Given the description of an element on the screen output the (x, y) to click on. 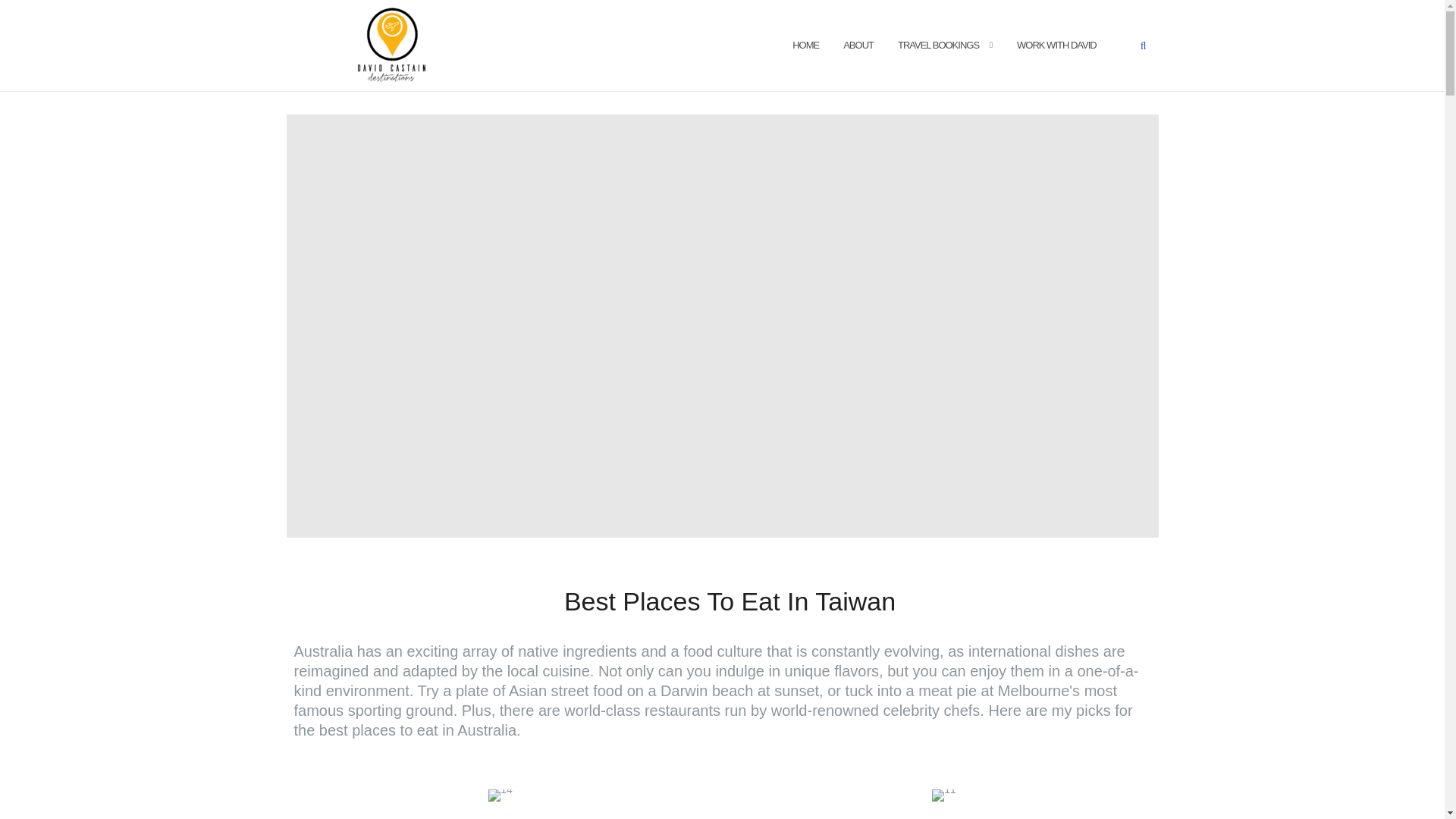
WORK WITH DAVID (1056, 45)
Work With David (1056, 45)
TRAVEL BOOKINGS (938, 45)
14 (499, 795)
Travel Bookings (938, 45)
11 (943, 795)
